Given the description of an element on the screen output the (x, y) to click on. 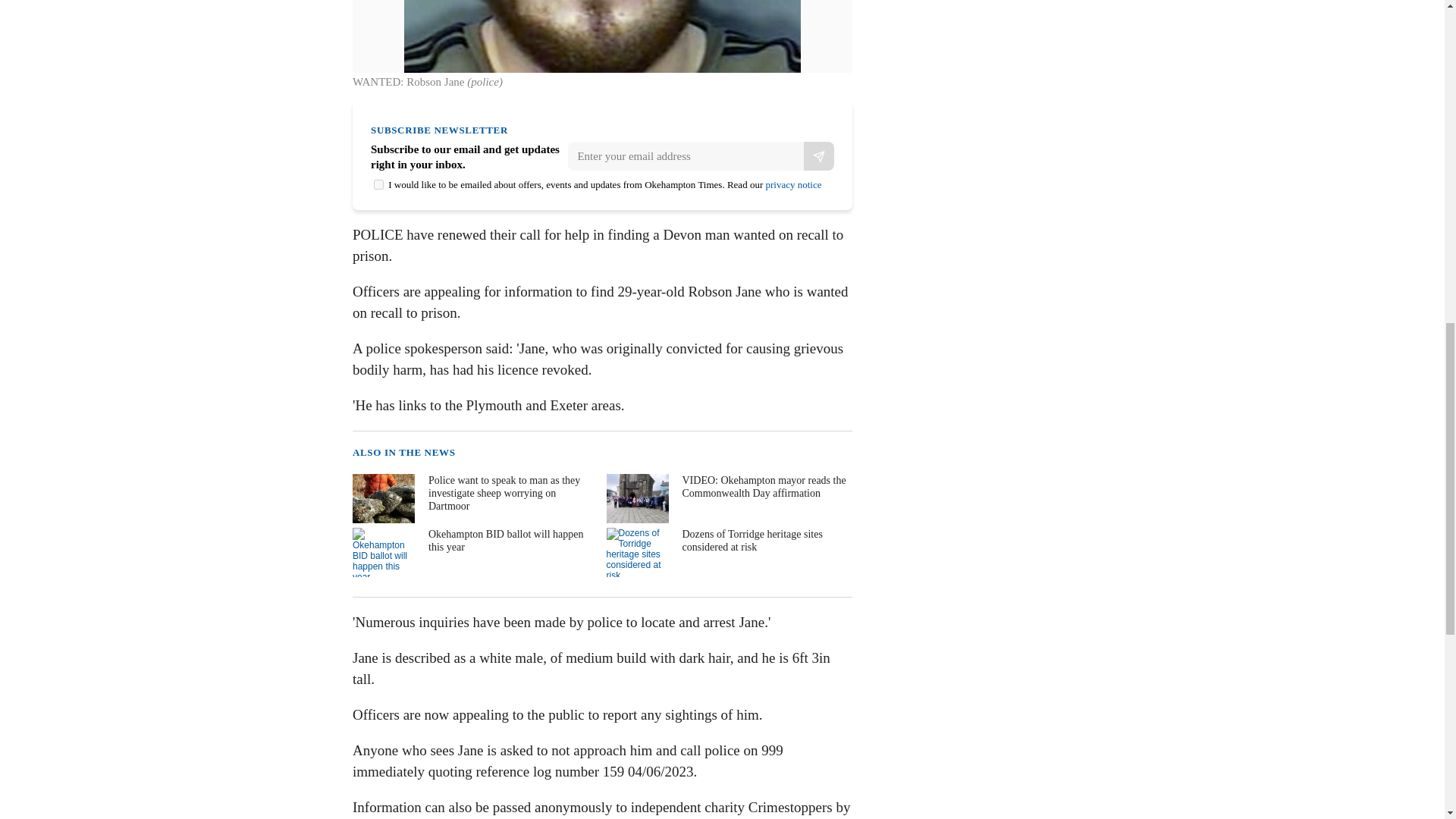
privacy notice (793, 184)
Dozens of Torridge heritage sites considered at risk (727, 552)
on (379, 184)
Okehampton BID ballot will happen this year (473, 552)
